Given the description of an element on the screen output the (x, y) to click on. 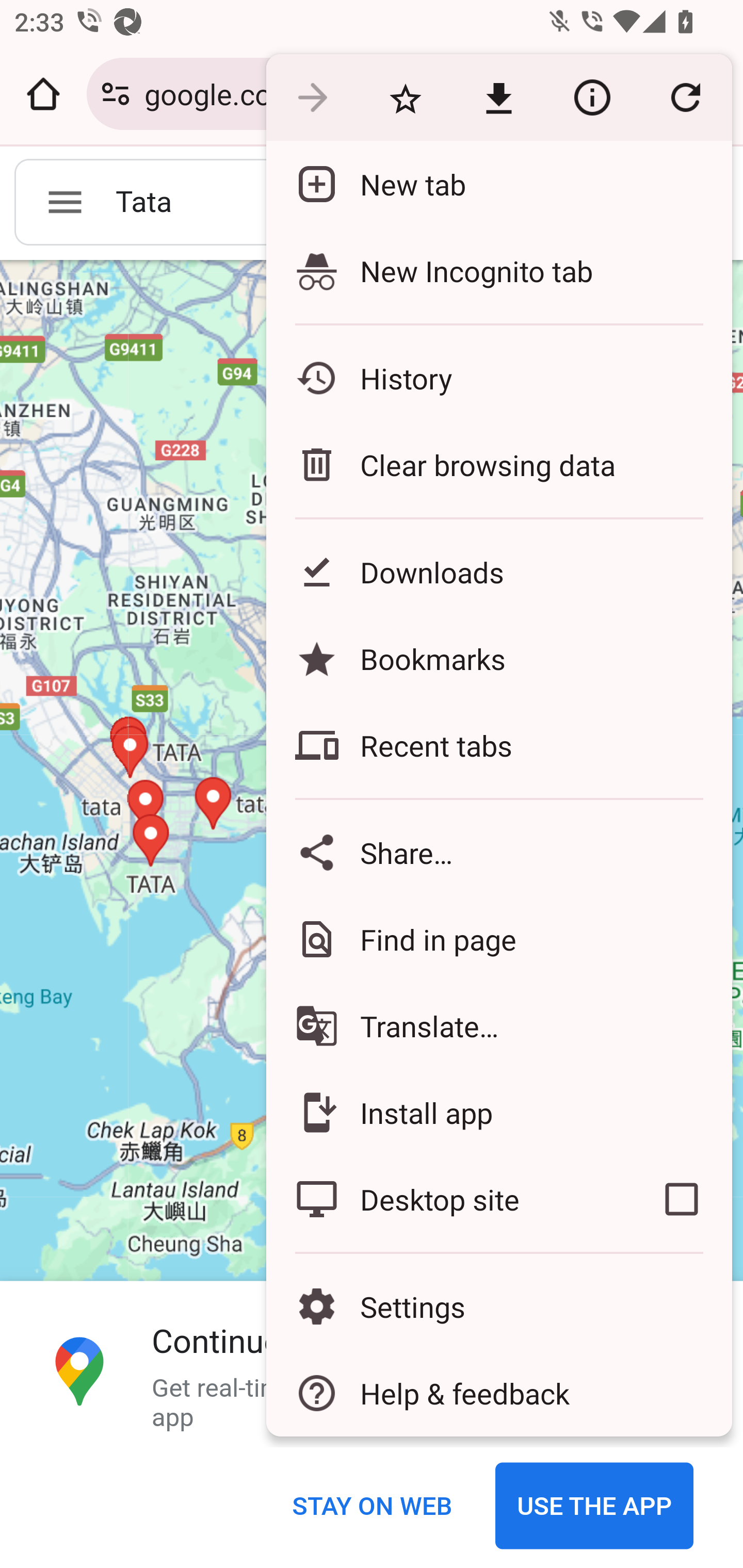
Forward (311, 97)
Bookmark (404, 97)
Download (498, 97)
Page info (591, 97)
Refresh (684, 97)
New tab (498, 184)
New Incognito tab (498, 270)
History (498, 377)
Clear browsing data (498, 464)
Downloads (498, 571)
Bookmarks (498, 658)
Recent tabs (498, 745)
Share… (498, 852)
Find in page (498, 939)
Translate… (498, 1026)
Install app (498, 1112)
Desktop site Turn on Request desktop site (447, 1198)
Settings (498, 1306)
Help & feedback (498, 1393)
